Given the description of an element on the screen output the (x, y) to click on. 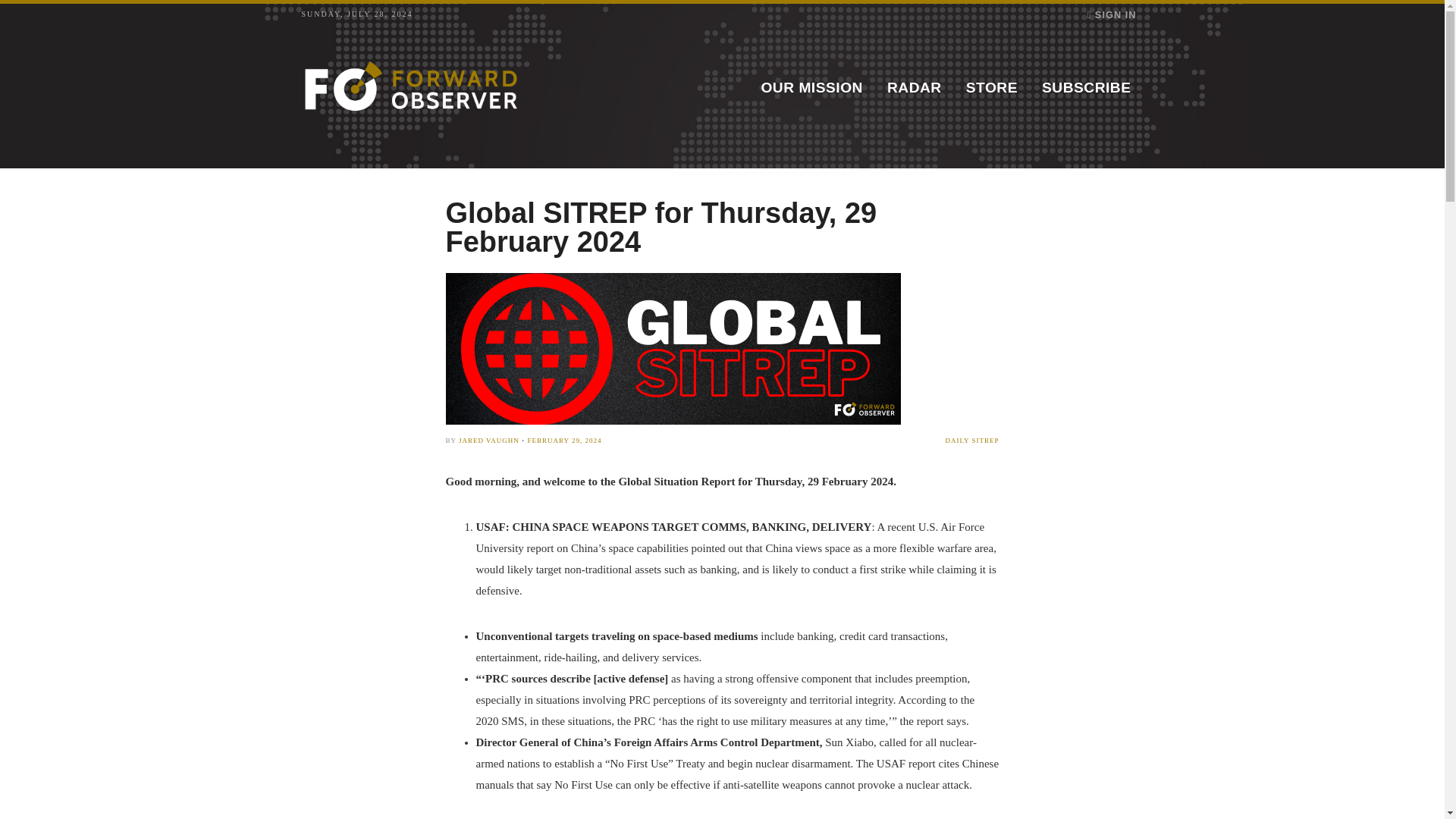
RADAR (914, 88)
STORE (991, 88)
SUBSCRIBE (1085, 88)
JARED VAUGHN (488, 440)
OUR MISSION (811, 88)
FEBRUARY 29, 2024 (564, 440)
SIGN IN (1111, 14)
DAILY SITREP (881, 440)
Radar (914, 88)
STORE (991, 88)
Our Mission (811, 88)
Subscribe (1085, 88)
